Given the description of an element on the screen output the (x, y) to click on. 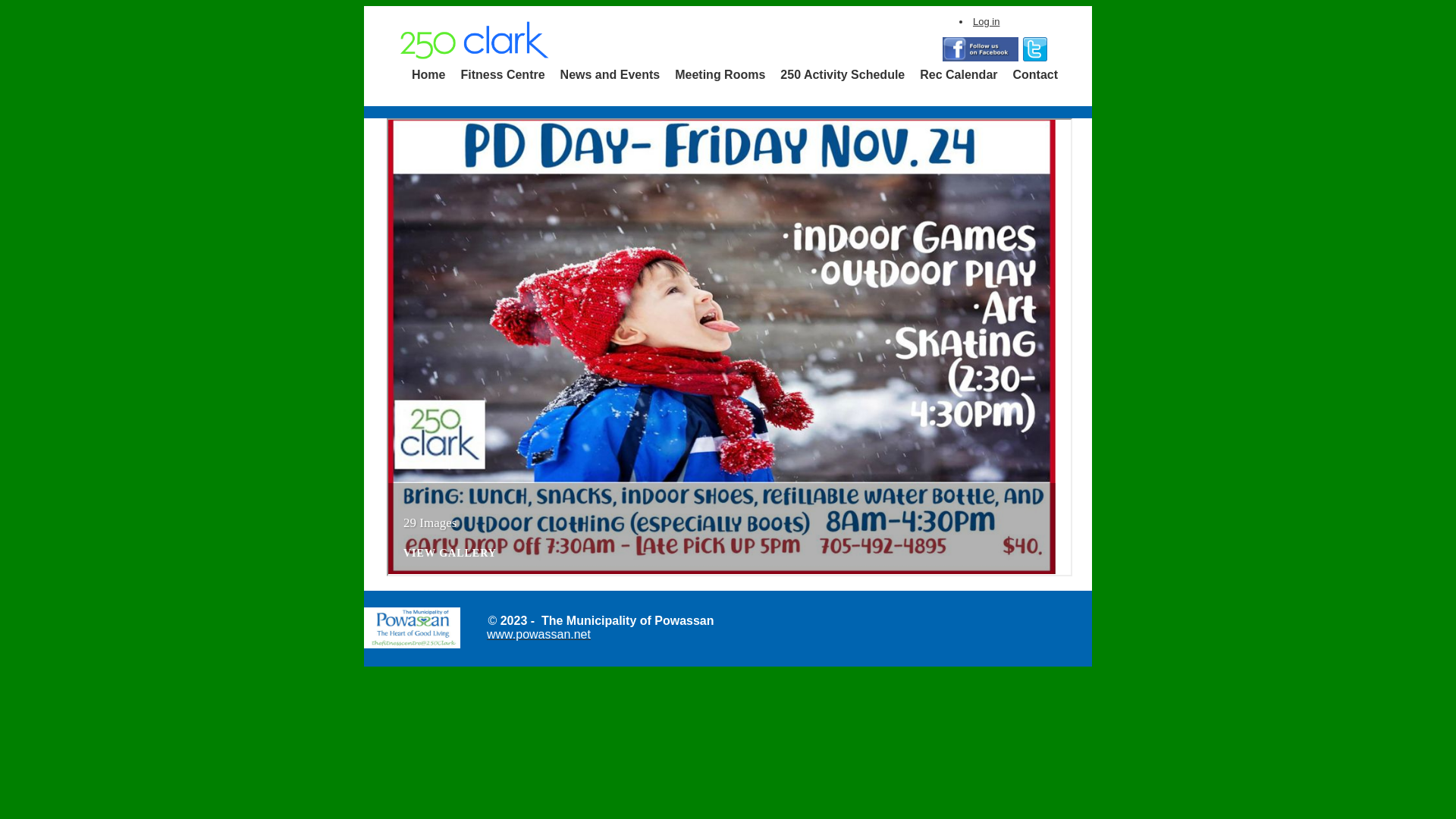
Home Element type: text (428, 74)
Log in Element type: text (985, 21)
Fitness Centre Element type: text (502, 74)
Rec Calendar Element type: text (958, 74)
News and Events Element type: text (610, 74)
Meeting Rooms Element type: text (719, 74)
Contact Element type: text (1035, 74)
250 Activity Schedule Element type: text (842, 74)
www.powassan.net Element type: text (538, 633)
